Given the description of an element on the screen output the (x, y) to click on. 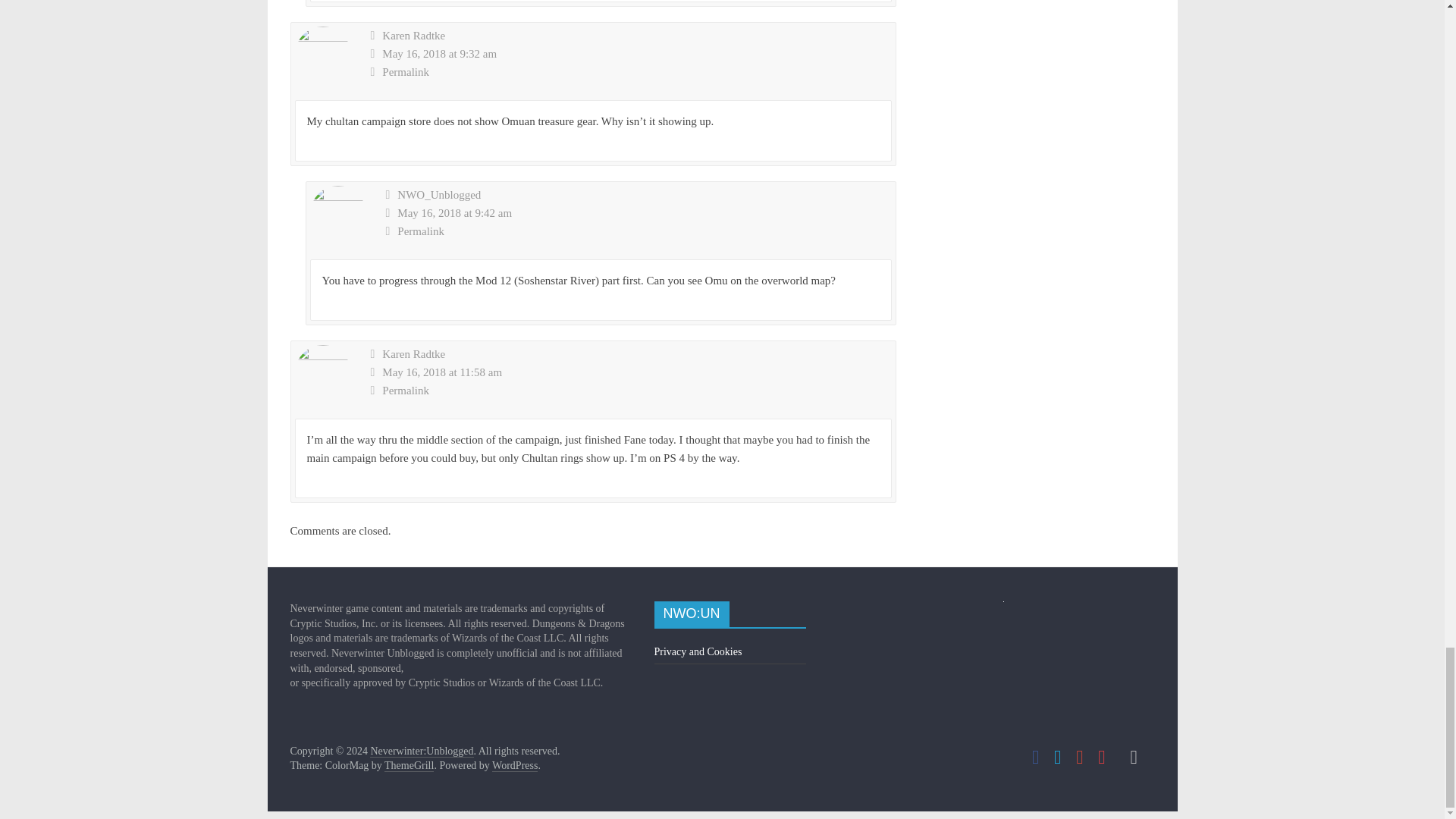
Neverwinter:Unblogged (421, 751)
WordPress (514, 766)
ThemeGrill (408, 766)
